Given the description of an element on the screen output the (x, y) to click on. 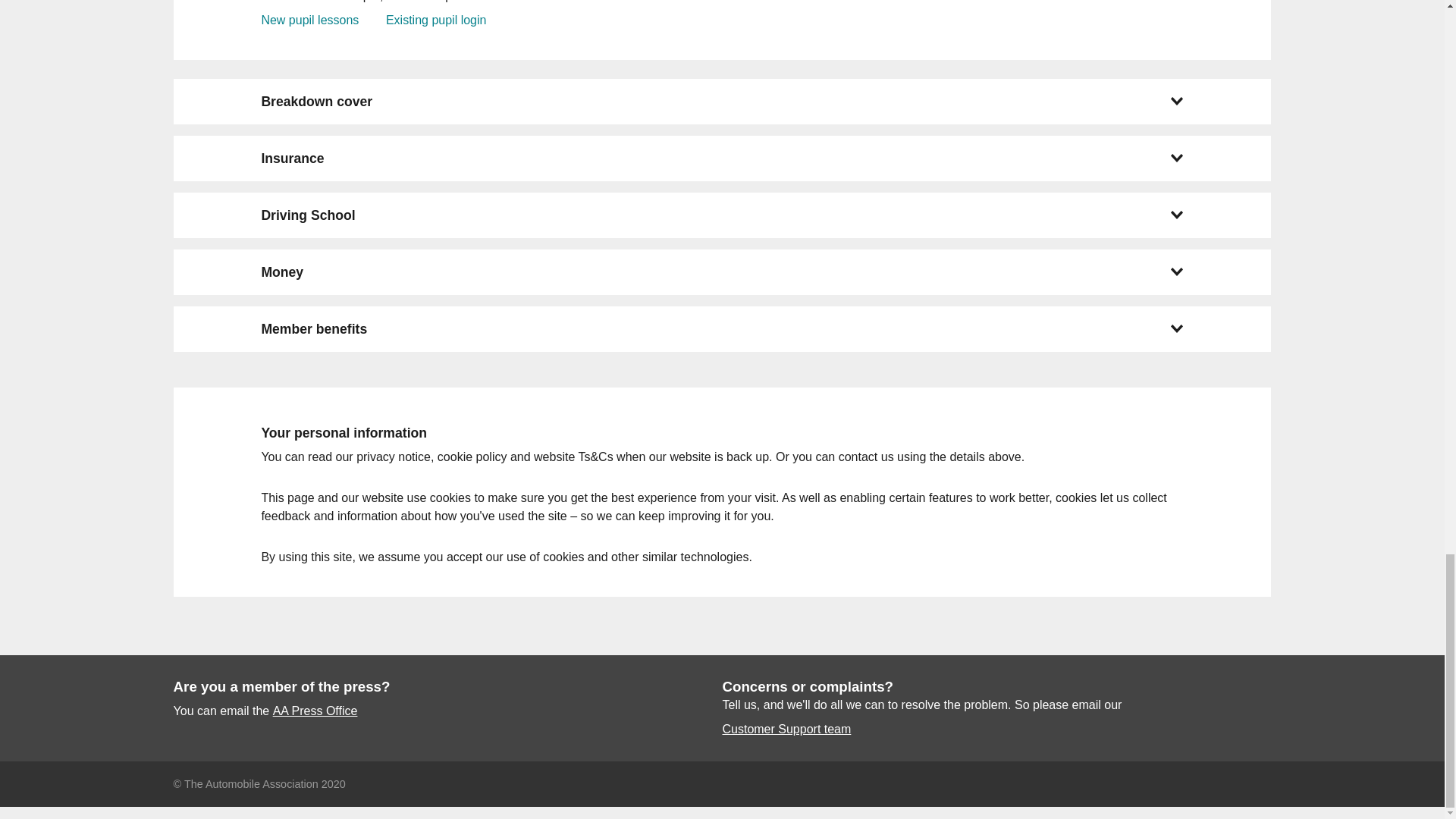
Customer Support team (786, 729)
Existing pupil login (435, 20)
AA Press Office (315, 710)
New pupil lessons (309, 20)
